Given the description of an element on the screen output the (x, y) to click on. 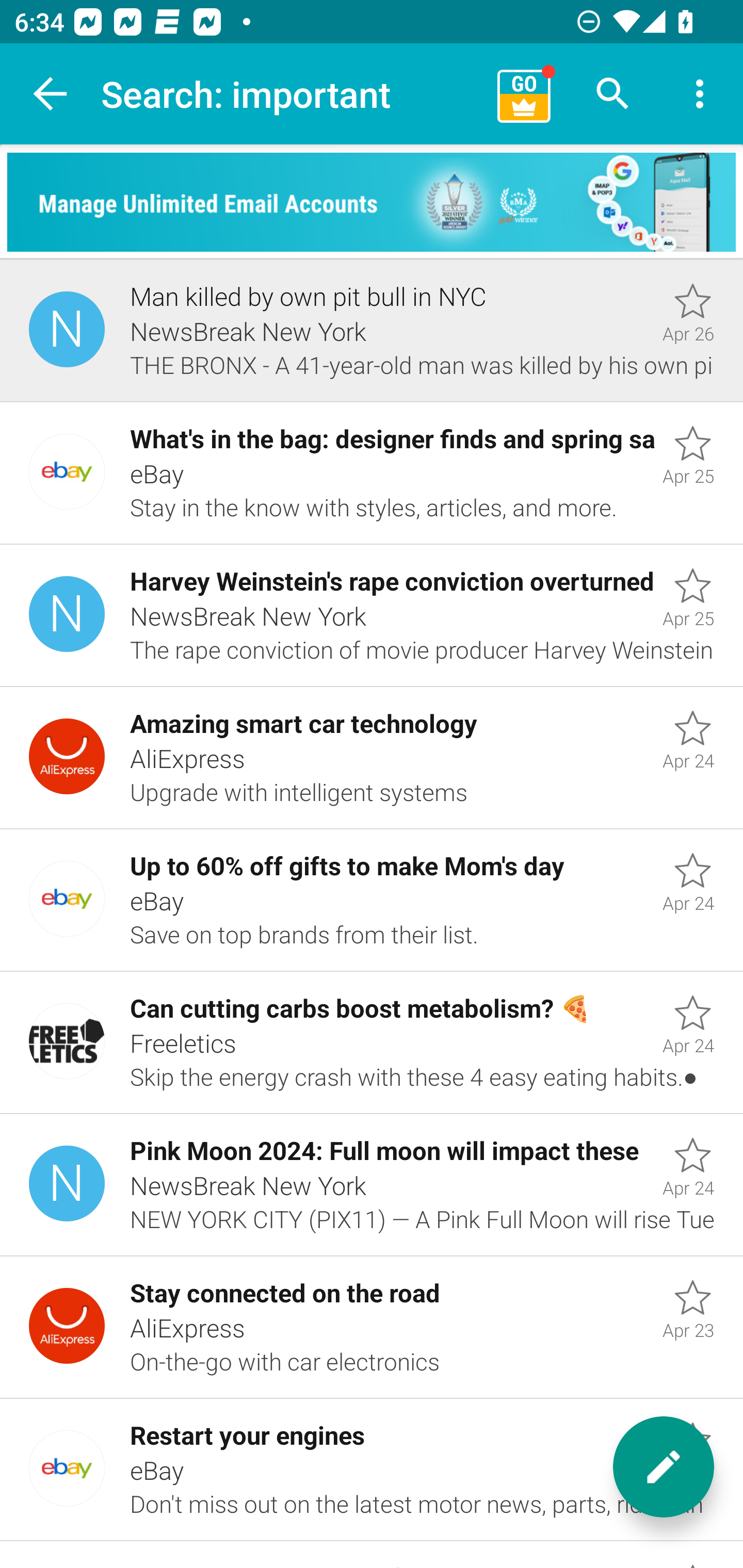
Navigate up (50, 93)
Search (612, 93)
More options (699, 93)
New message (663, 1466)
